Given the description of an element on the screen output the (x, y) to click on. 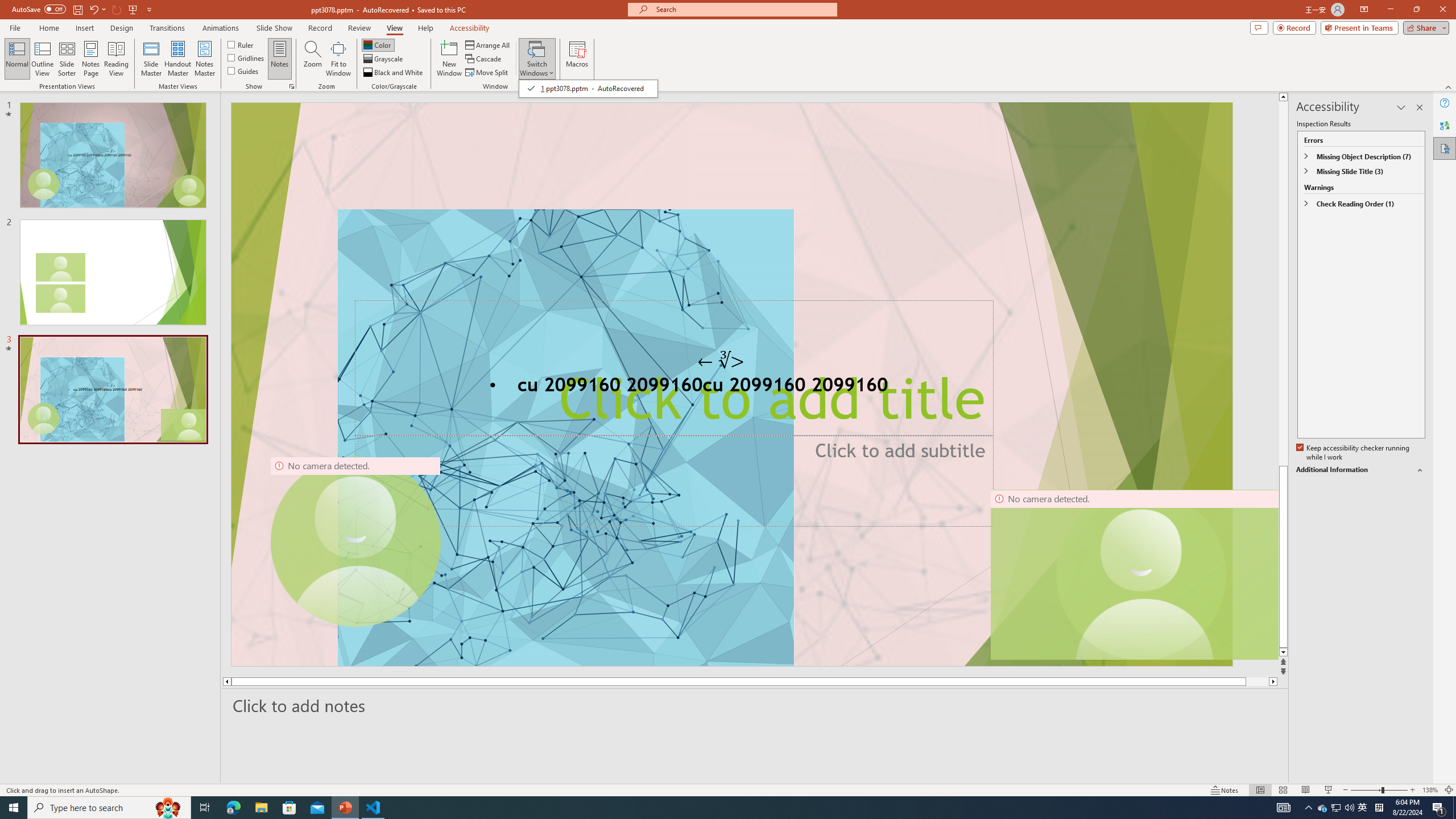
Guides (243, 69)
Keep accessibility checker running while I work (1353, 452)
Subtitle TextBox (673, 480)
Camera 14, No camera detected. (1134, 574)
